Given the description of an element on the screen output the (x, y) to click on. 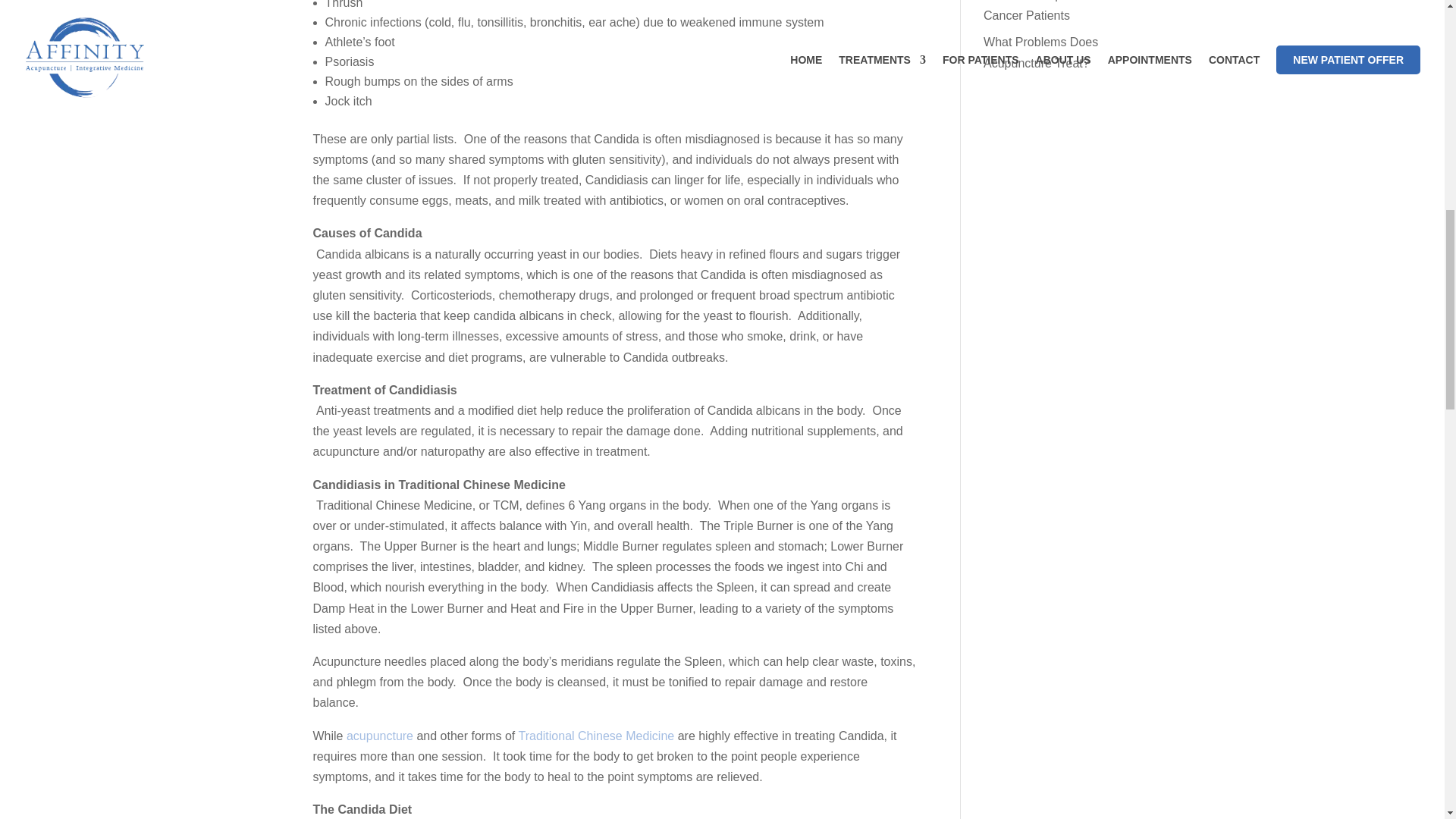
acupuncture  (381, 735)
Traditional Chinese Medicine (596, 735)
